Given the description of an element on the screen output the (x, y) to click on. 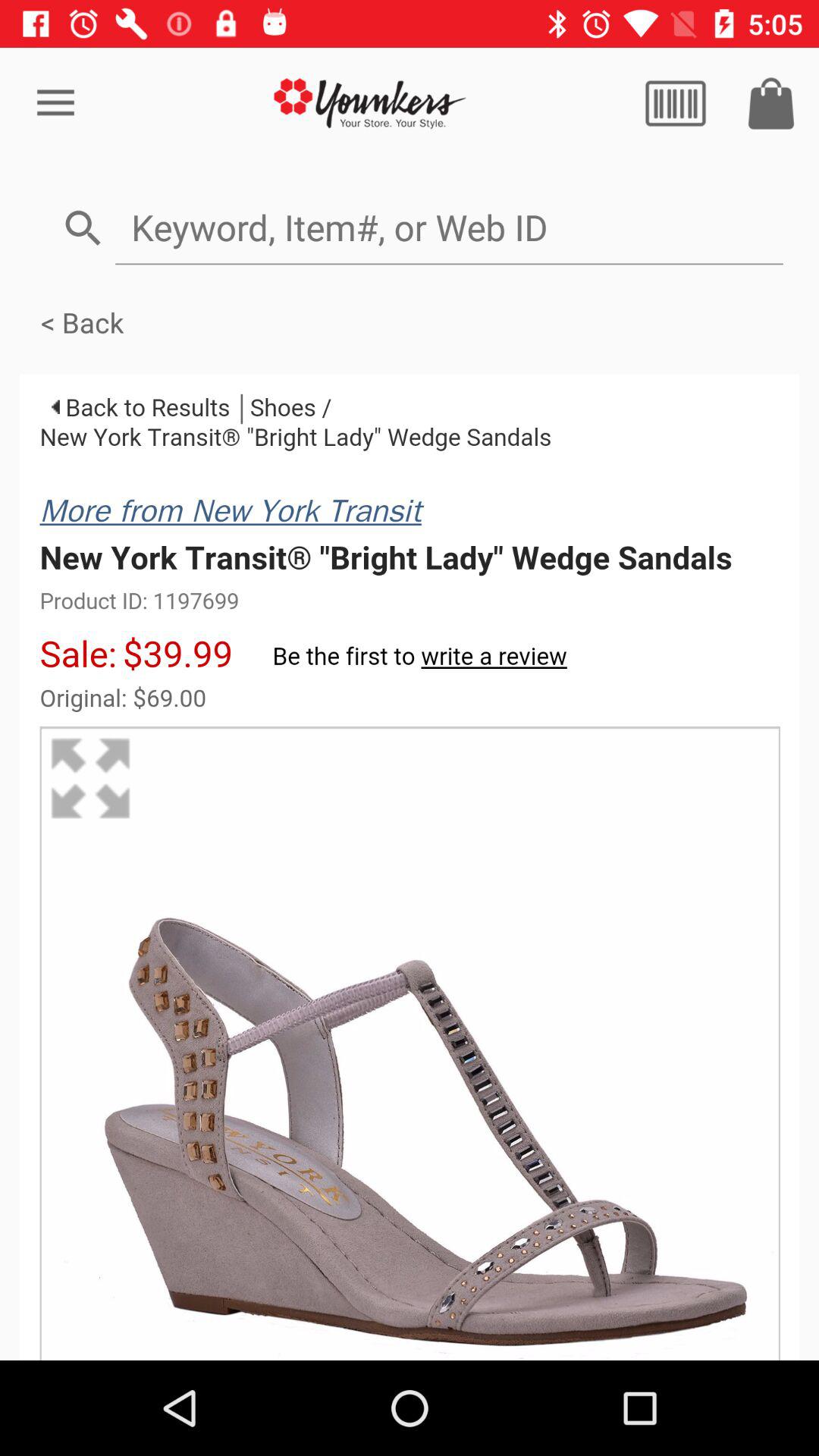
buy (771, 103)
